Given the description of an element on the screen output the (x, y) to click on. 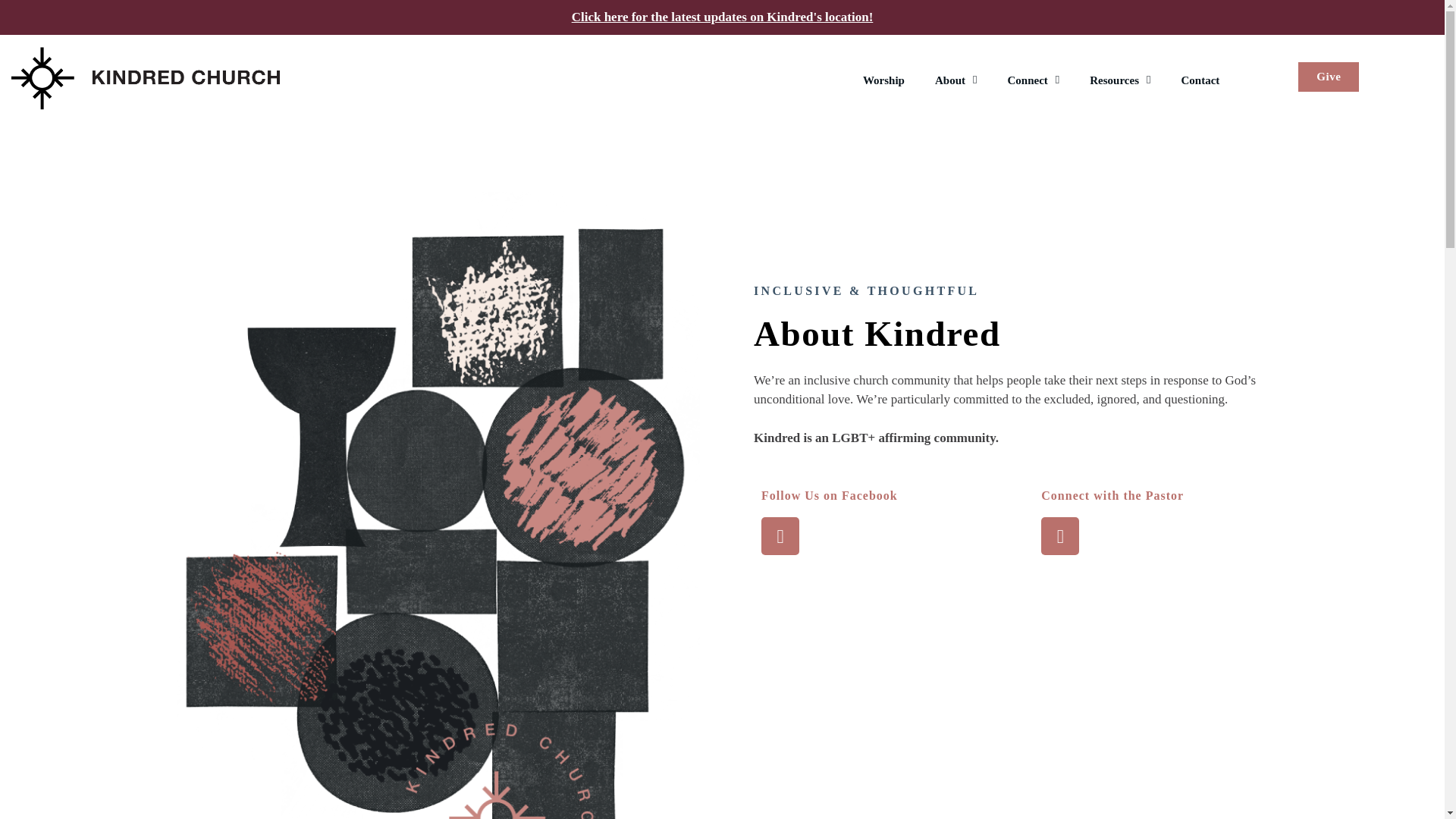
Contact (1200, 80)
Worship (883, 80)
Give (1328, 76)
Connect (1032, 80)
About (956, 80)
Resources (1120, 80)
Click here for the latest updates on Kindred's location! (722, 16)
